Given the description of an element on the screen output the (x, y) to click on. 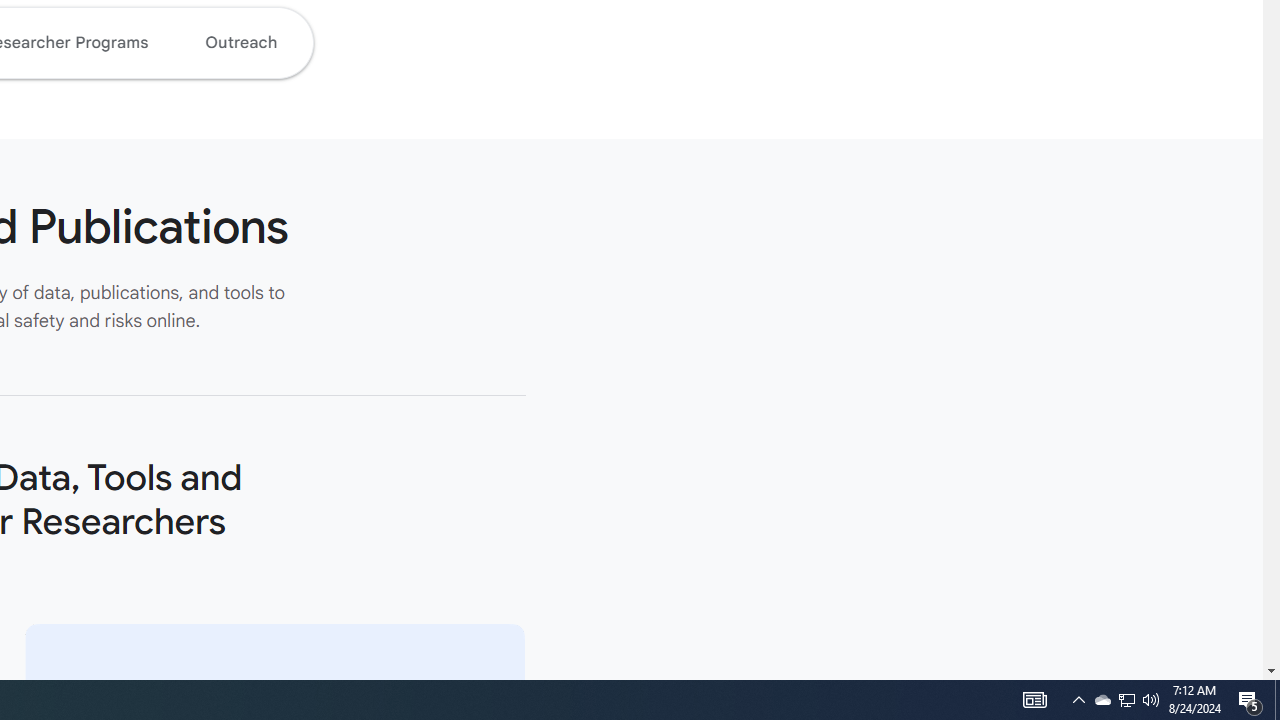
Outreach (240, 42)
